Given the description of an element on the screen output the (x, y) to click on. 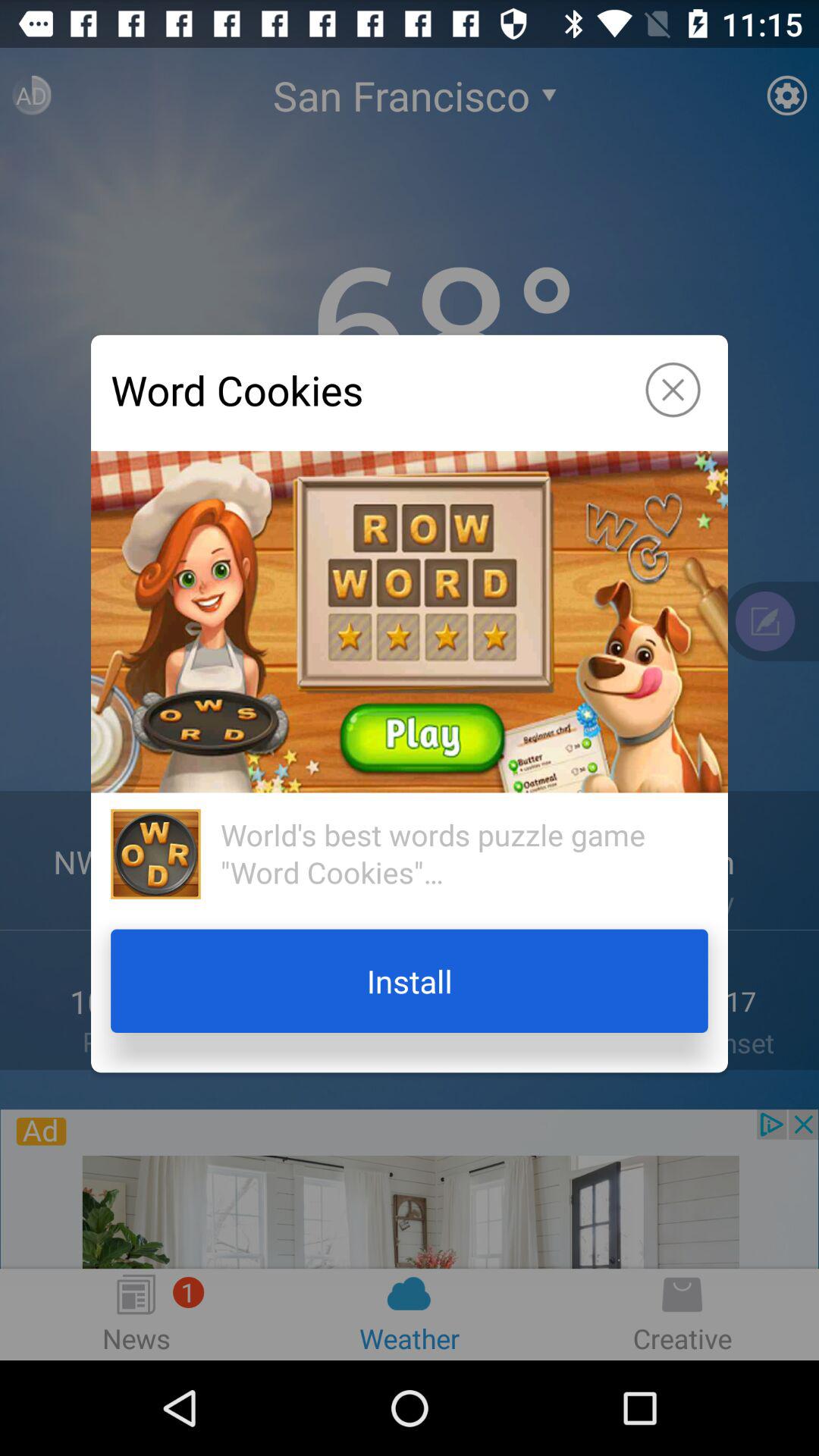
choose install (409, 980)
